Given the description of an element on the screen output the (x, y) to click on. 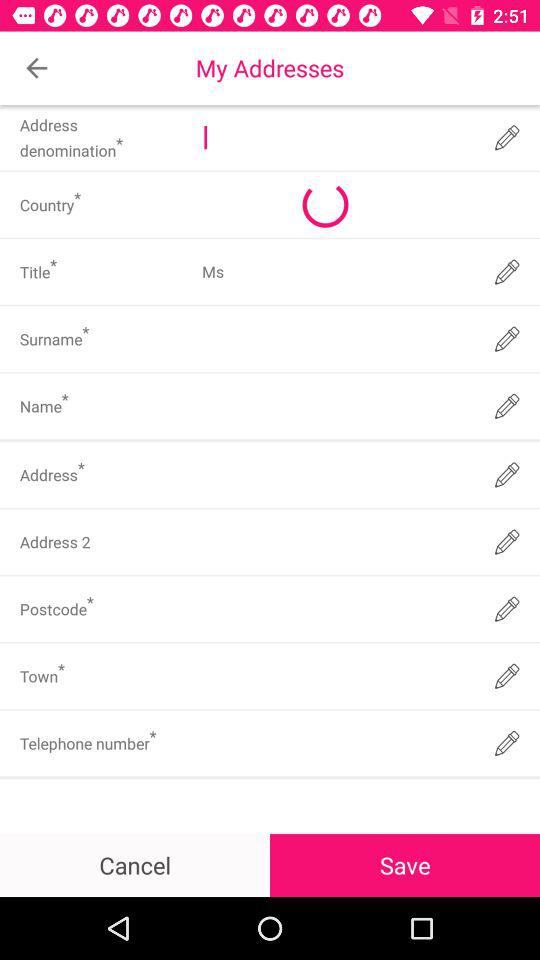
flip to cancel (135, 864)
